Given the description of an element on the screen output the (x, y) to click on. 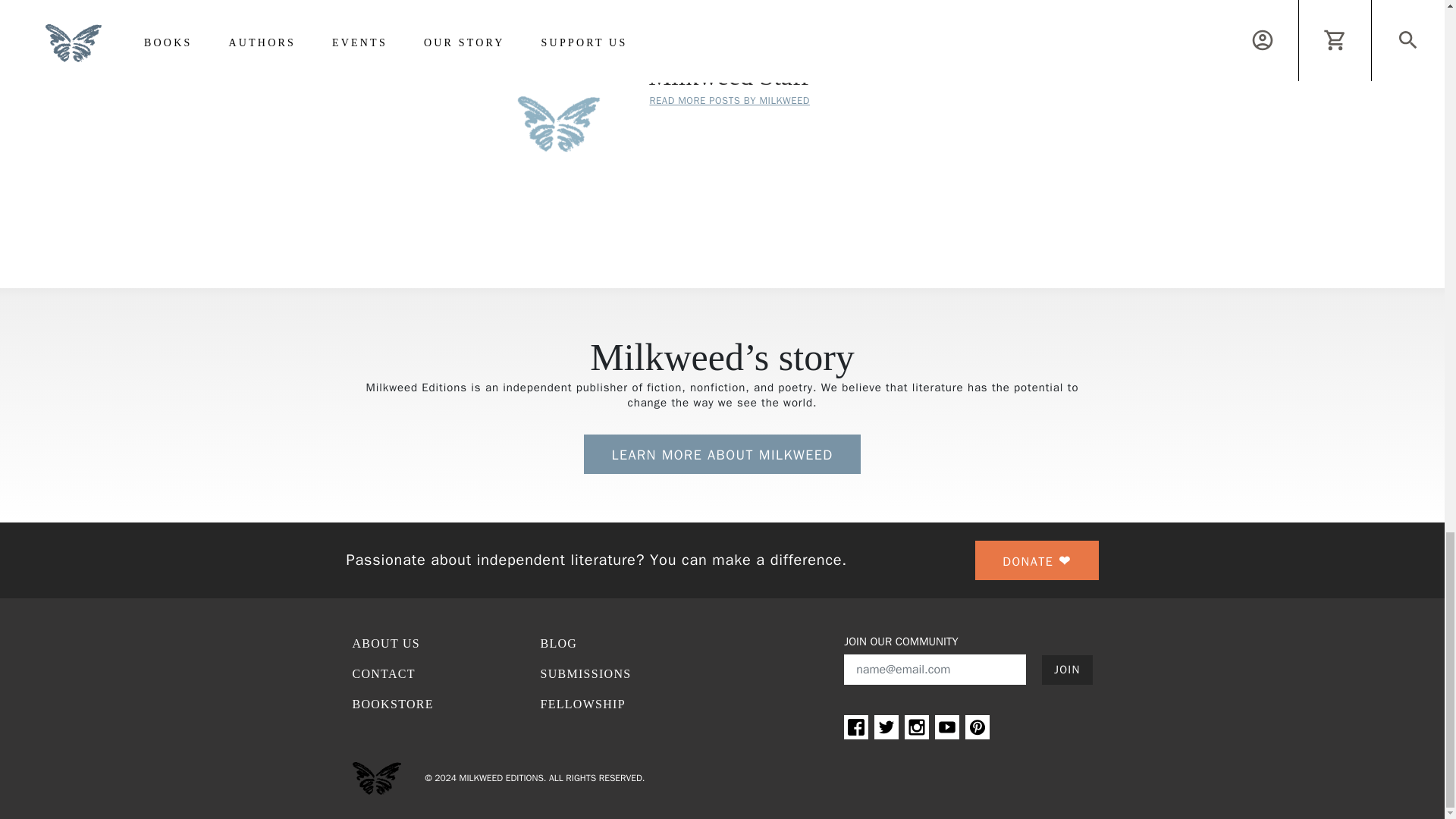
Join (1067, 669)
